Given the description of an element on the screen output the (x, y) to click on. 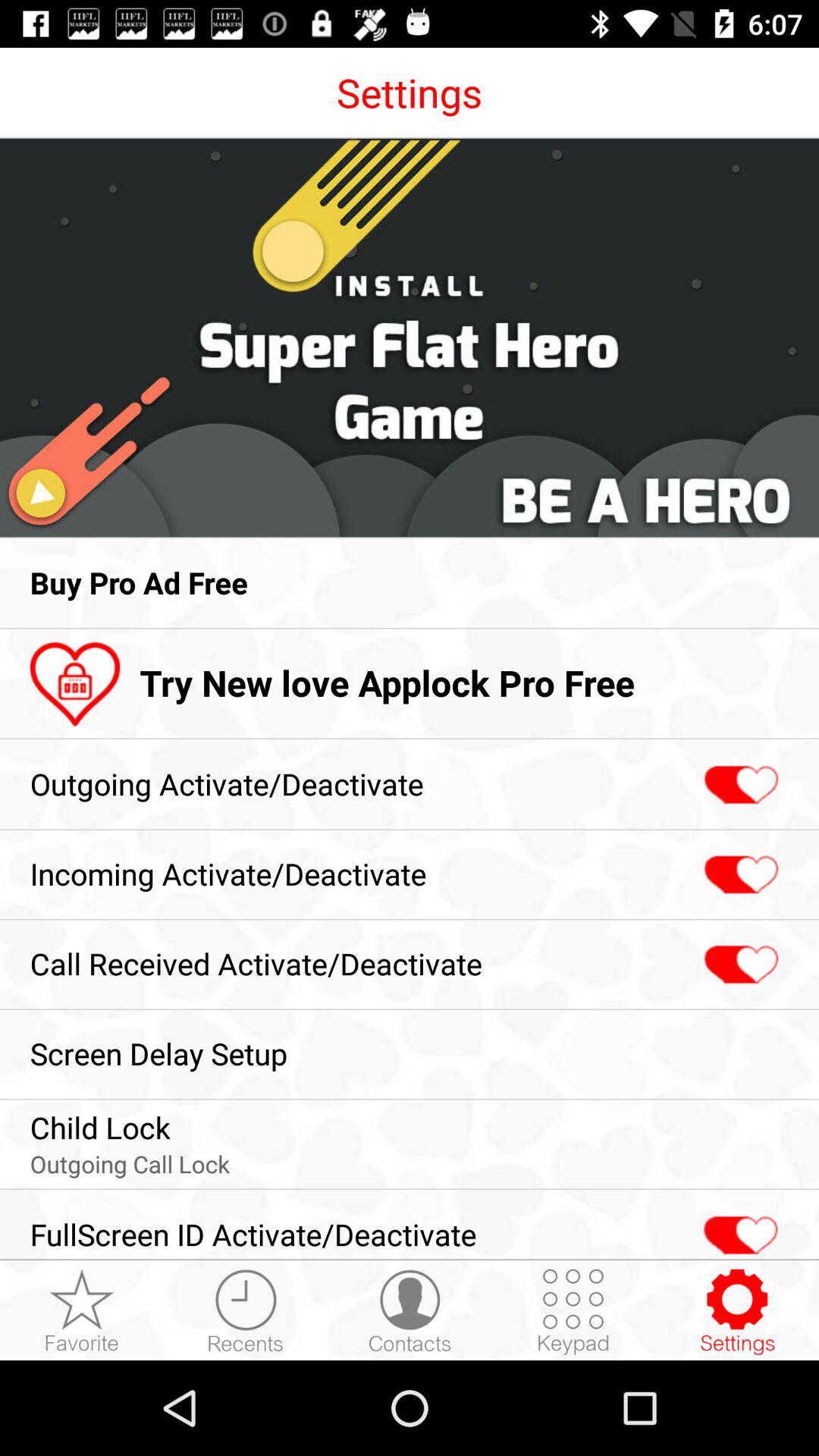
switch off (739, 785)
